Given the description of an element on the screen output the (x, y) to click on. 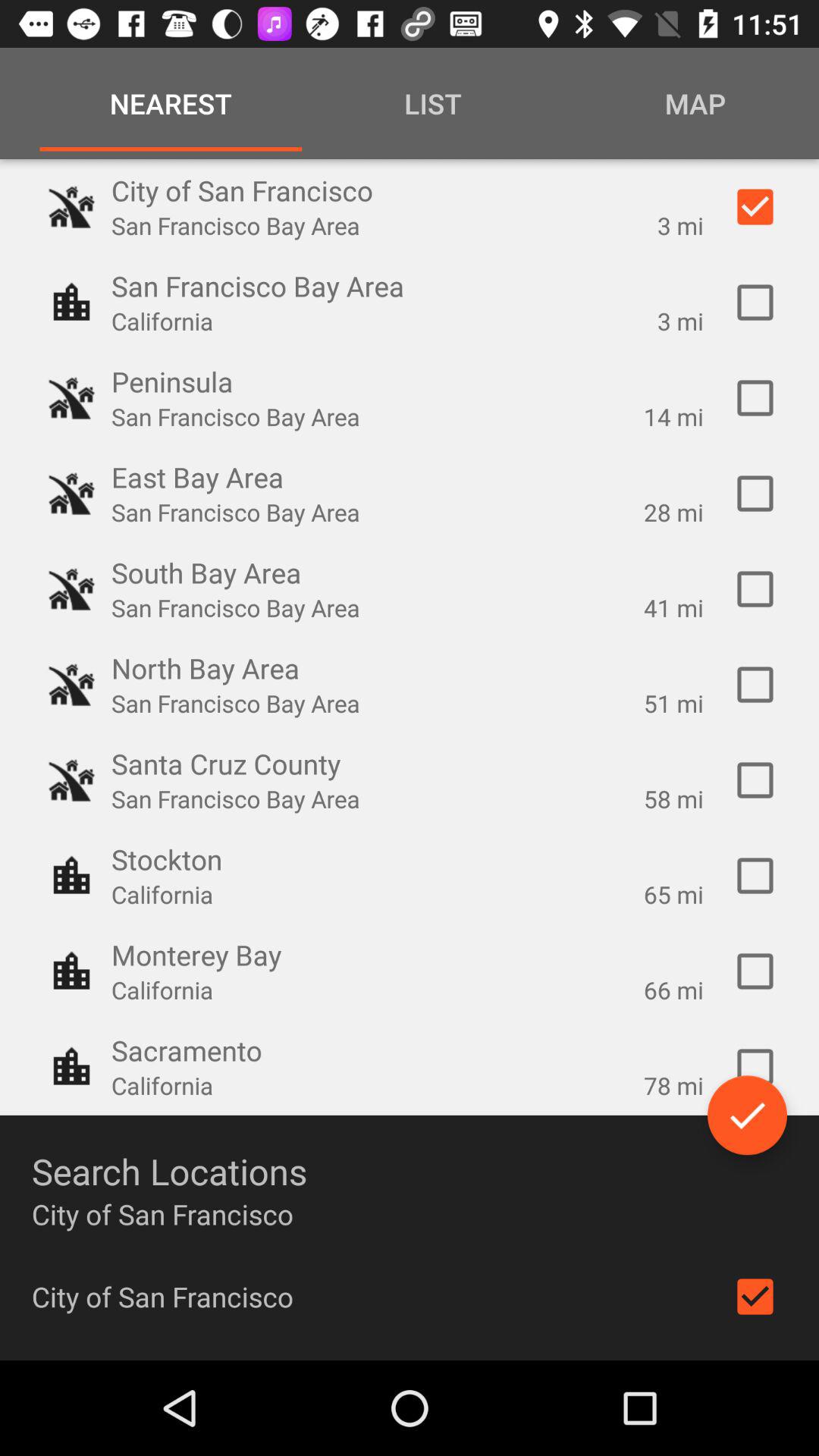
city selection check box (755, 875)
